Given the description of an element on the screen output the (x, y) to click on. 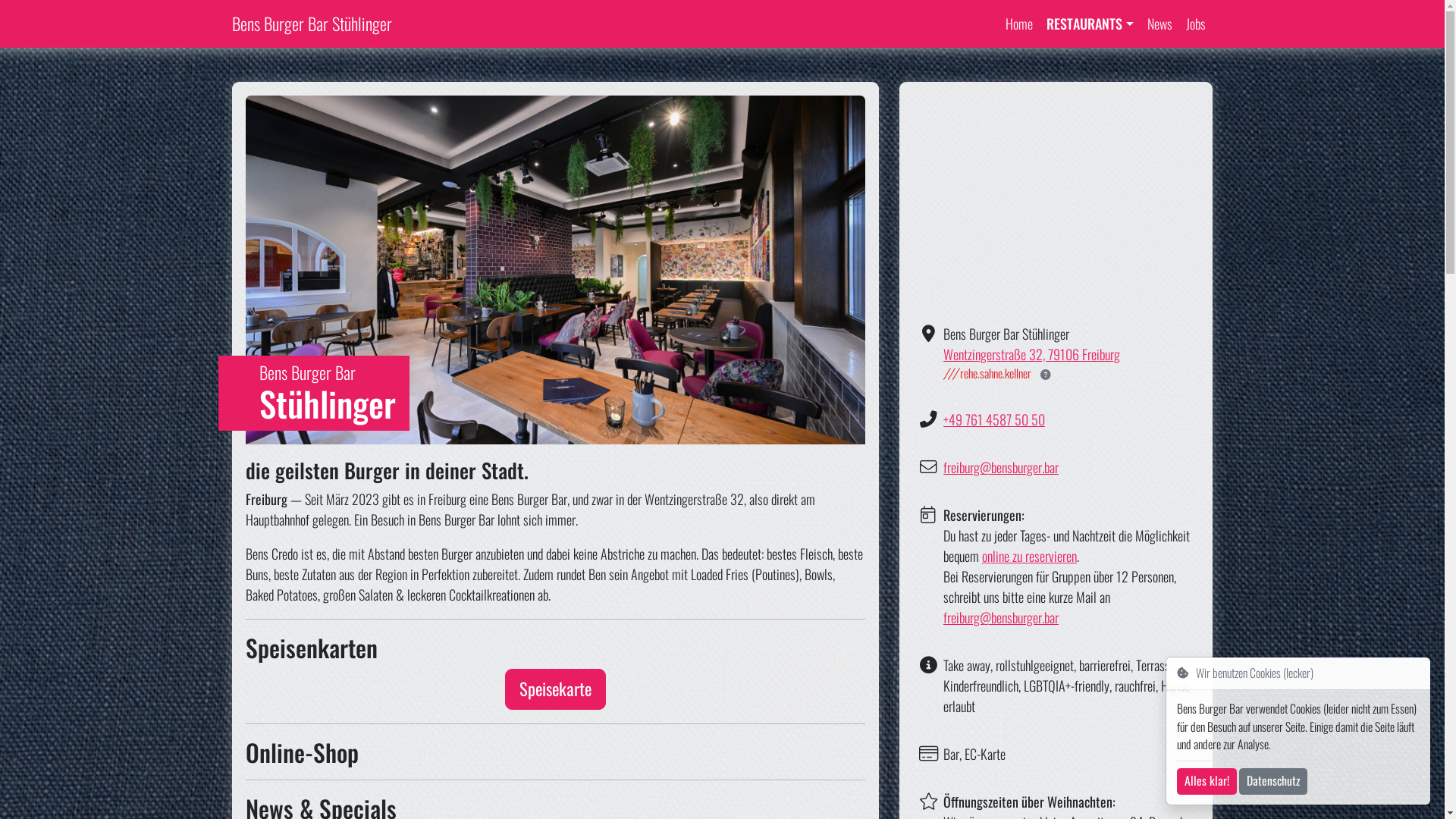
News Element type: text (1159, 23)
freiburg@bensburger.bar Element type: text (1000, 466)
Home Element type: text (1018, 23)
freiburg@bensburger.bar Element type: text (1000, 617)
Alles klar! Element type: text (1206, 781)
online zu reservieren Element type: text (1029, 555)
+49 761 4587 50 50 Element type: text (993, 419)
rehe.sahne.kellner Element type: text (987, 373)
Datenschutz Element type: text (1273, 781)
RESTAURANTS Element type: text (1089, 23)
Jobs Element type: text (1195, 23)
Speisekarte Element type: text (555, 688)
